Given the description of an element on the screen output the (x, y) to click on. 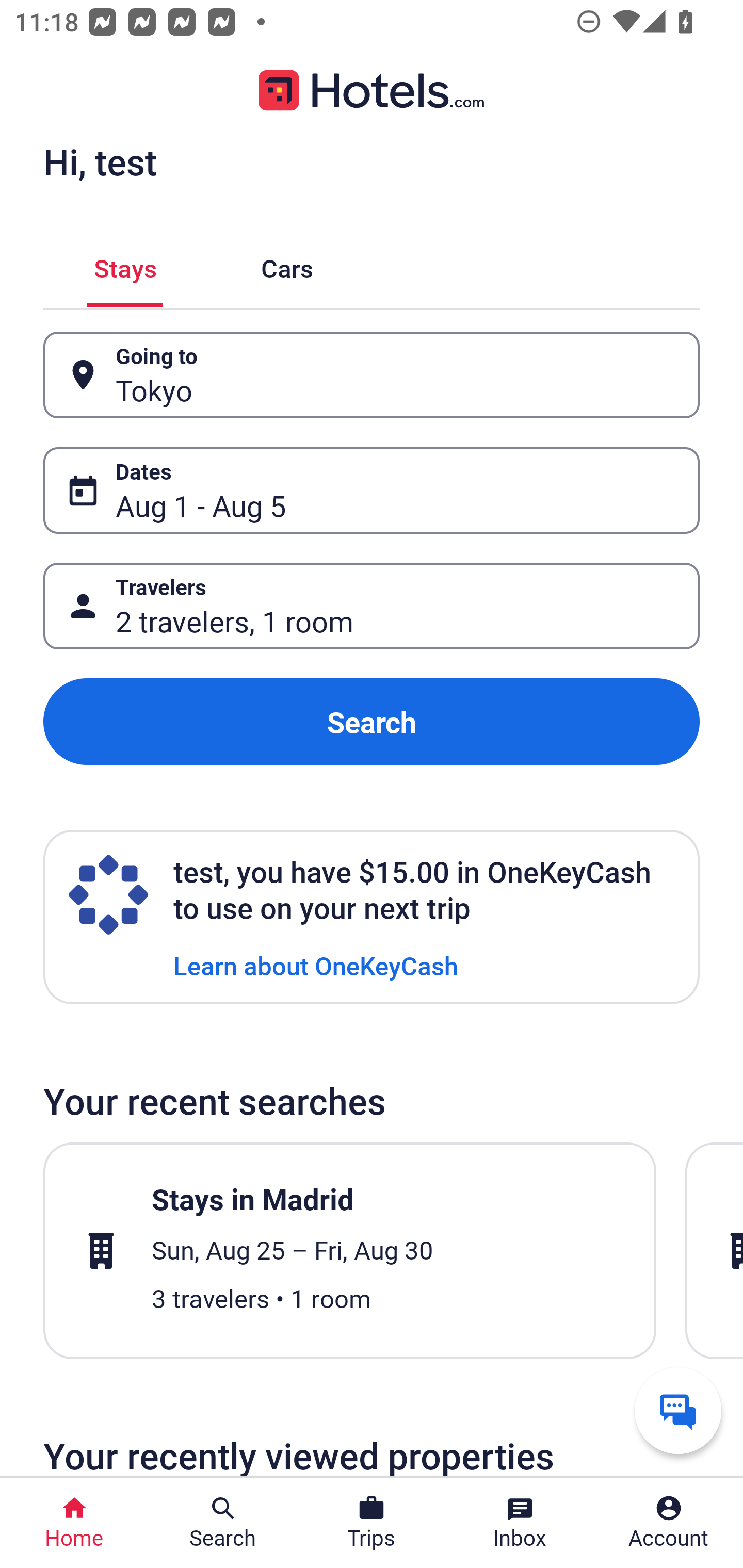
Hi, test (99, 161)
Cars (286, 265)
Going to Button Tokyo (371, 375)
Dates Button Aug 1 - Aug 5 (371, 489)
Travelers Button 2 travelers, 1 room (371, 605)
Search (371, 721)
Learn about OneKeyCash Learn about OneKeyCash Link (315, 964)
Get help from a virtual agent (677, 1410)
Search Search Button (222, 1522)
Trips Trips Button (371, 1522)
Inbox Inbox Button (519, 1522)
Account Profile. Button (668, 1522)
